Given the description of an element on the screen output the (x, y) to click on. 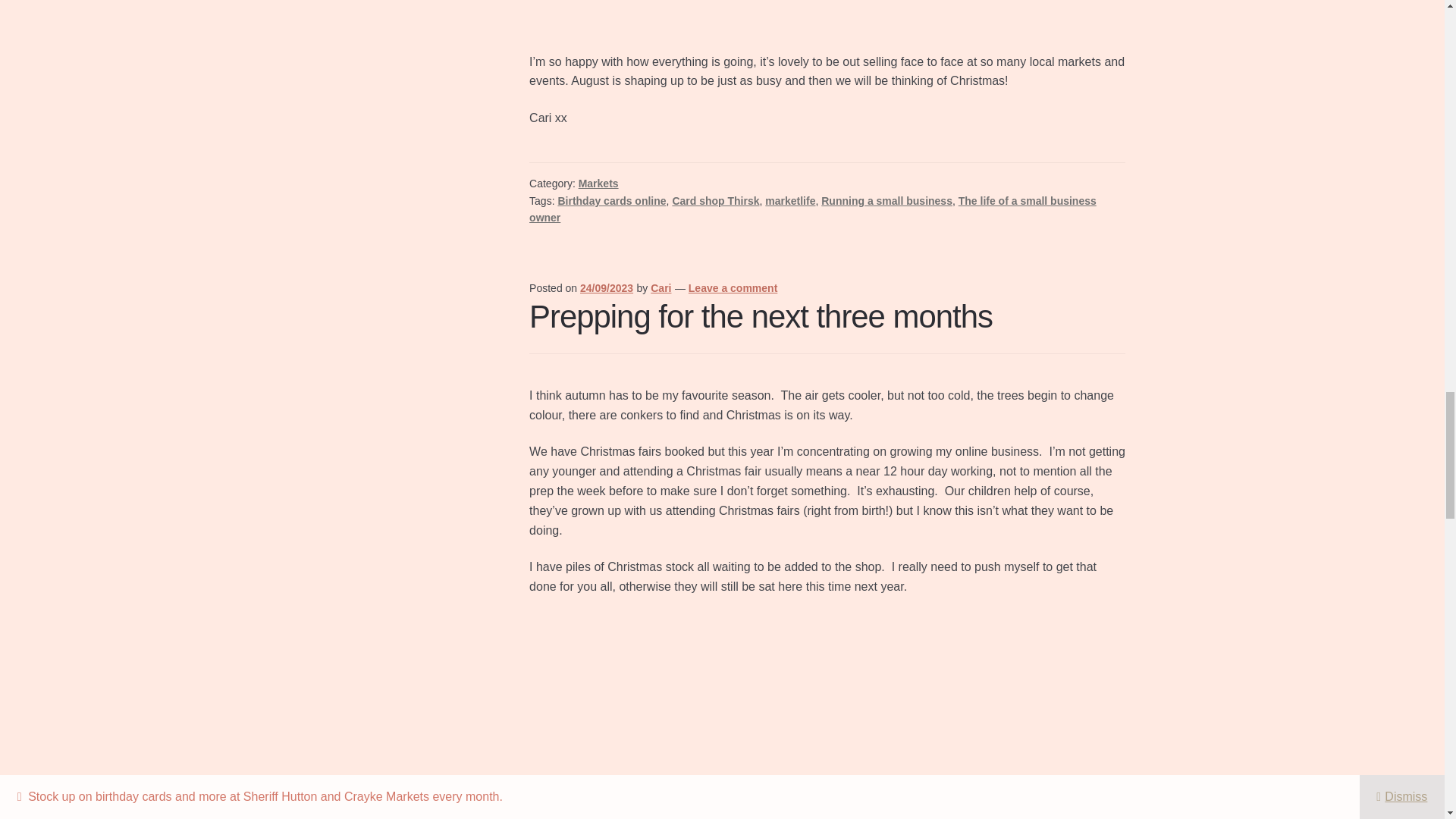
Markets (598, 183)
Card shop Thirsk (714, 200)
Birthday cards online (611, 200)
